Given the description of an element on the screen output the (x, y) to click on. 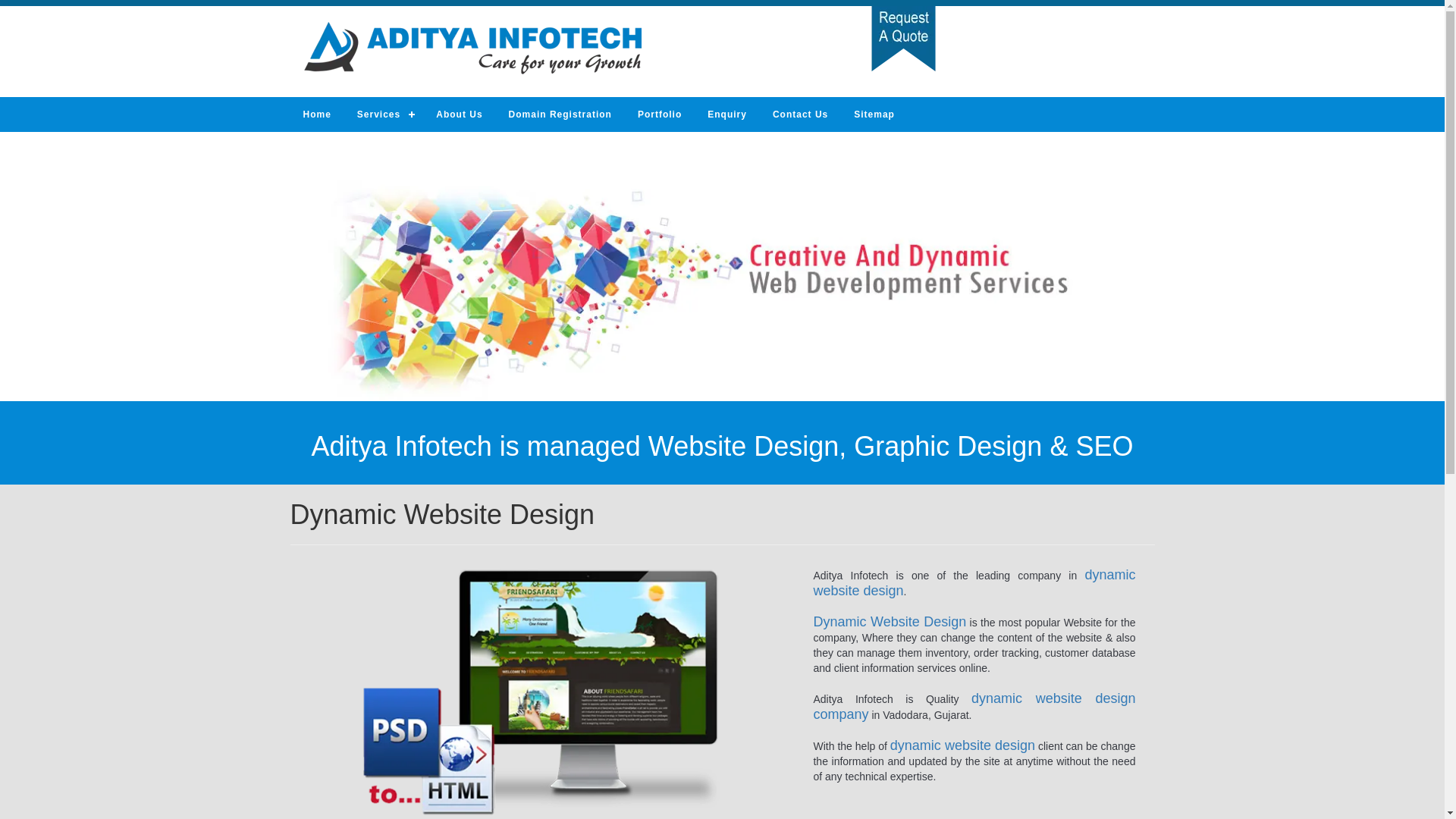
Contact Us (800, 114)
Domain Registration (560, 114)
Home (316, 114)
About Us (459, 114)
Services (383, 114)
Enquiry (727, 114)
Portfolio (659, 114)
Dynamic Website Design (542, 689)
Sitemap (874, 114)
